Given the description of an element on the screen output the (x, y) to click on. 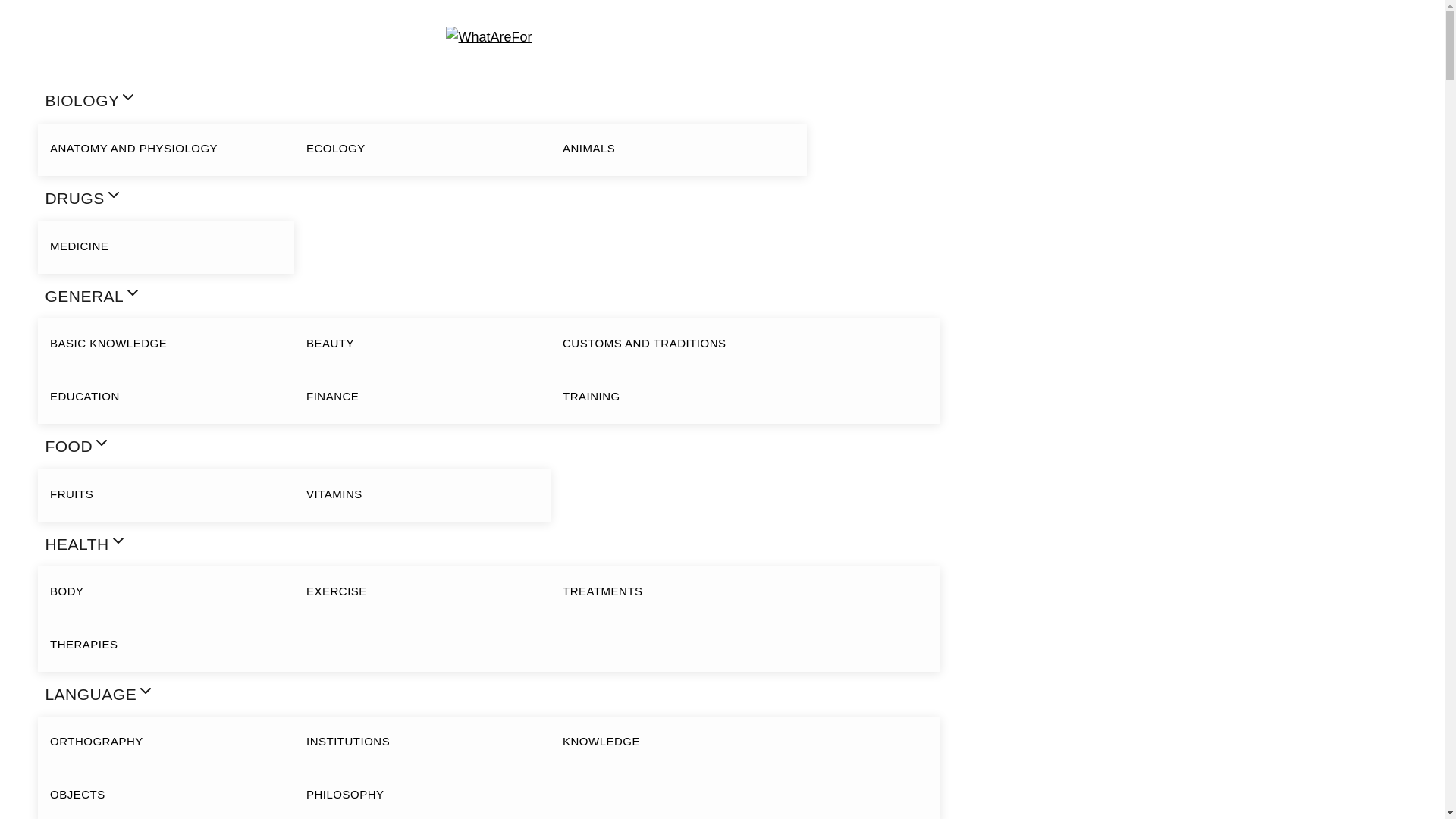
CUSTOMS AND TRADITIONS (678, 343)
ORTHOGRAPHY (165, 741)
EXPAND (101, 443)
ECOLOGY (422, 148)
THERAPIES (165, 644)
BODY (165, 591)
EXPAND (132, 292)
KNOWLEDGE (678, 741)
TREATMENTS (678, 591)
FINANCE (422, 396)
